Given the description of an element on the screen output the (x, y) to click on. 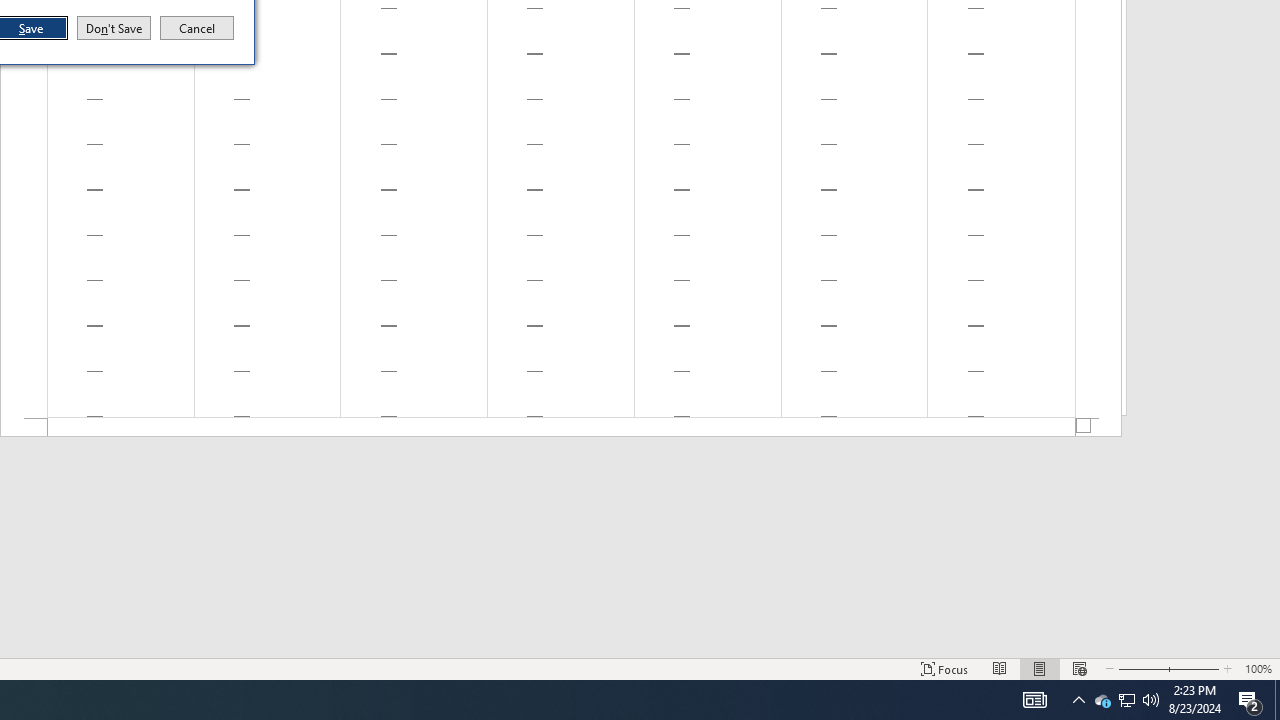
Cancel (197, 27)
